Given the description of an element on the screen output the (x, y) to click on. 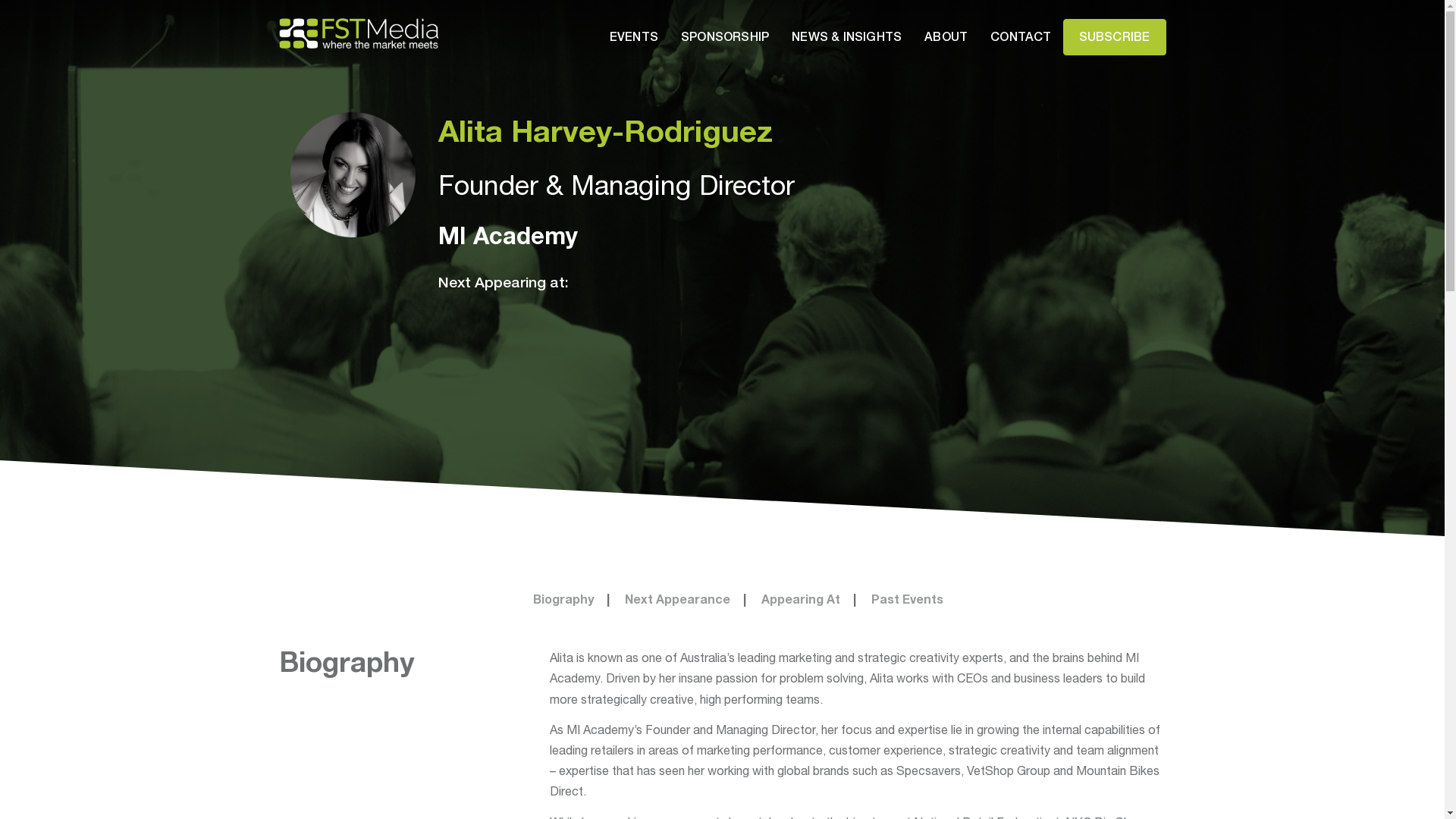
NEWS & INSIGHTS Element type: text (846, 36)
Biography Element type: text (563, 598)
SPONSORSHIP Element type: text (724, 36)
Appearing At Element type: text (800, 598)
ABOUT Element type: text (946, 36)
SUBSCRIBE Element type: text (1114, 36)
FST Media Element type: hover (358, 31)
EVENTS Element type: text (633, 36)
Past Events Element type: text (907, 598)
Next Appearance Element type: text (677, 598)
CONTACT Element type: text (1020, 36)
